Given the description of an element on the screen output the (x, y) to click on. 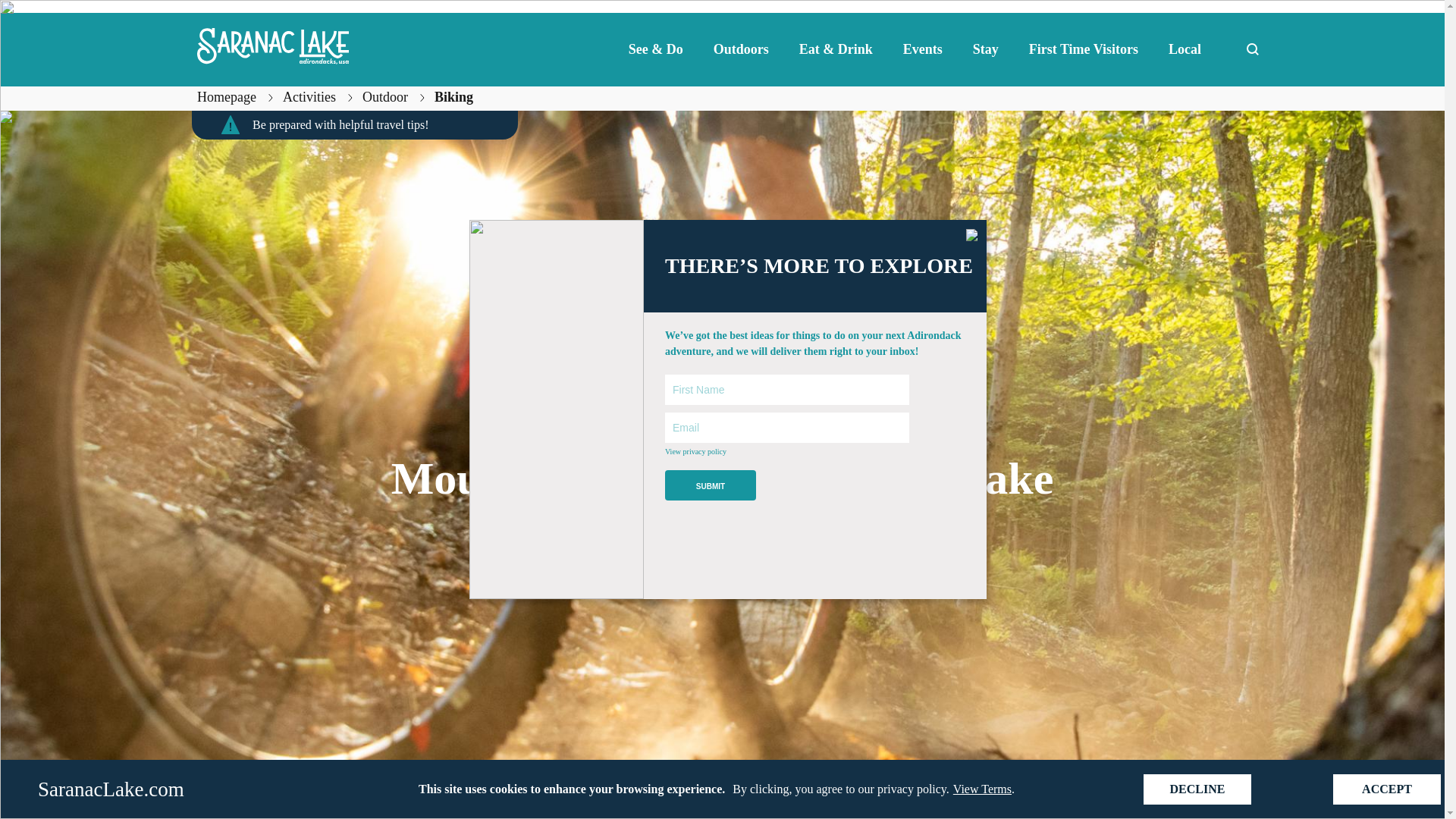
Outdoors (741, 48)
Submit (710, 485)
